Given the description of an element on the screen output the (x, y) to click on. 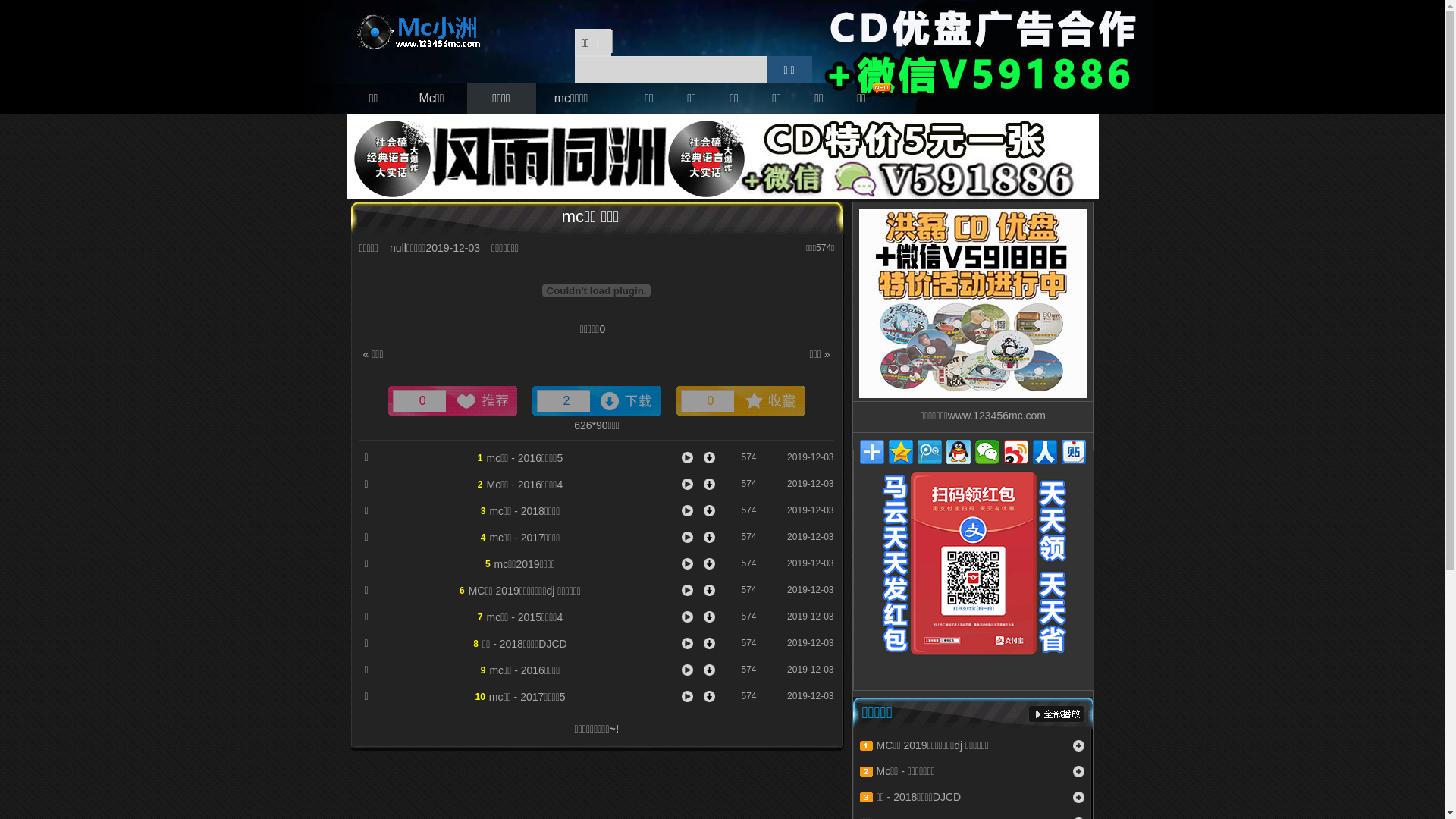
0 Element type: text (740, 400)
2 Element type: text (596, 400)
0 Element type: text (602, 329)
null Element type: text (397, 247)
0 Element type: text (452, 400)
